Given the description of an element on the screen output the (x, y) to click on. 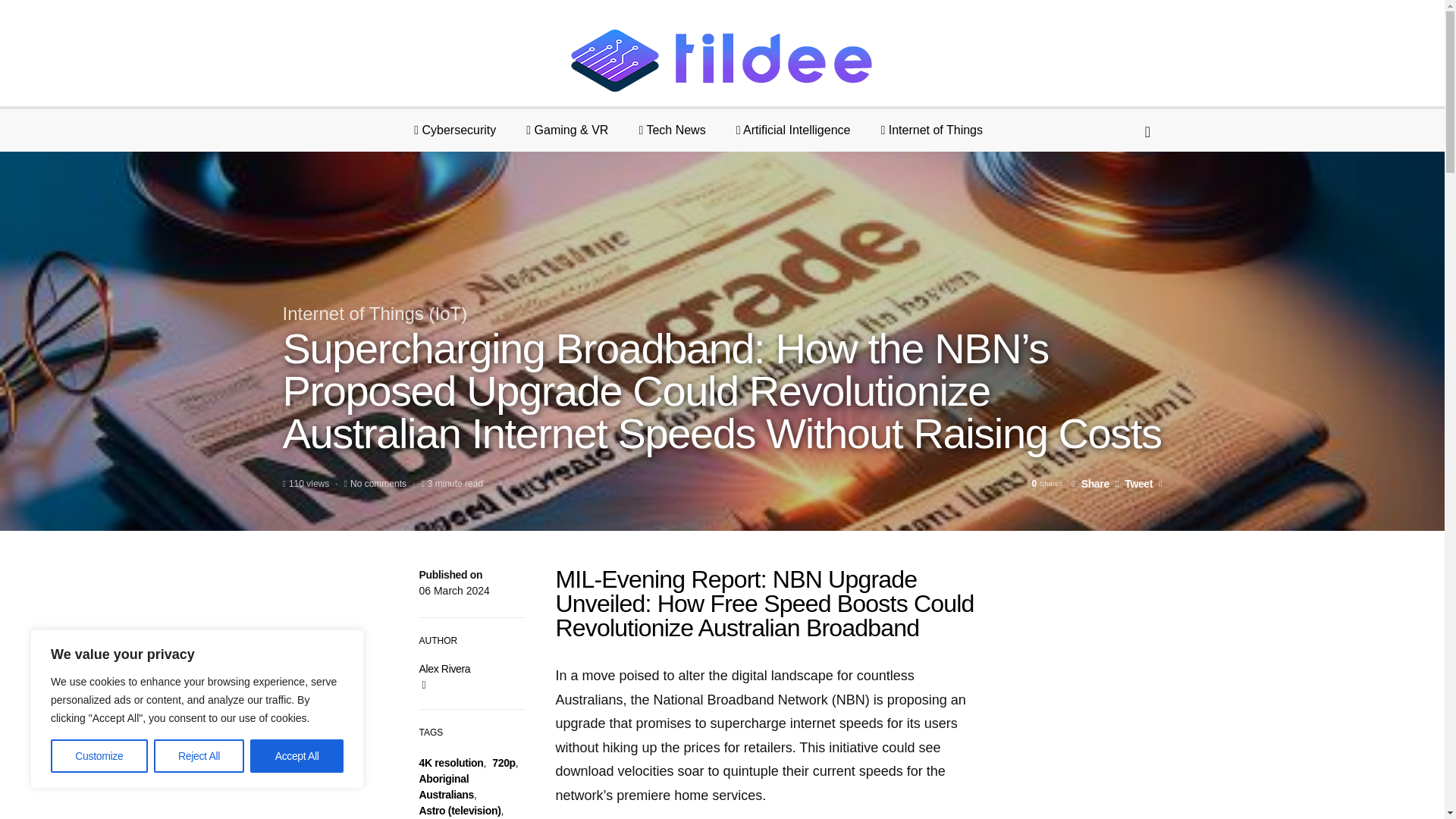
Share (1090, 483)
Reject All (199, 756)
Customize (99, 756)
Accept All (296, 756)
Tweet (1134, 483)
No comments (378, 483)
